Given the description of an element on the screen output the (x, y) to click on. 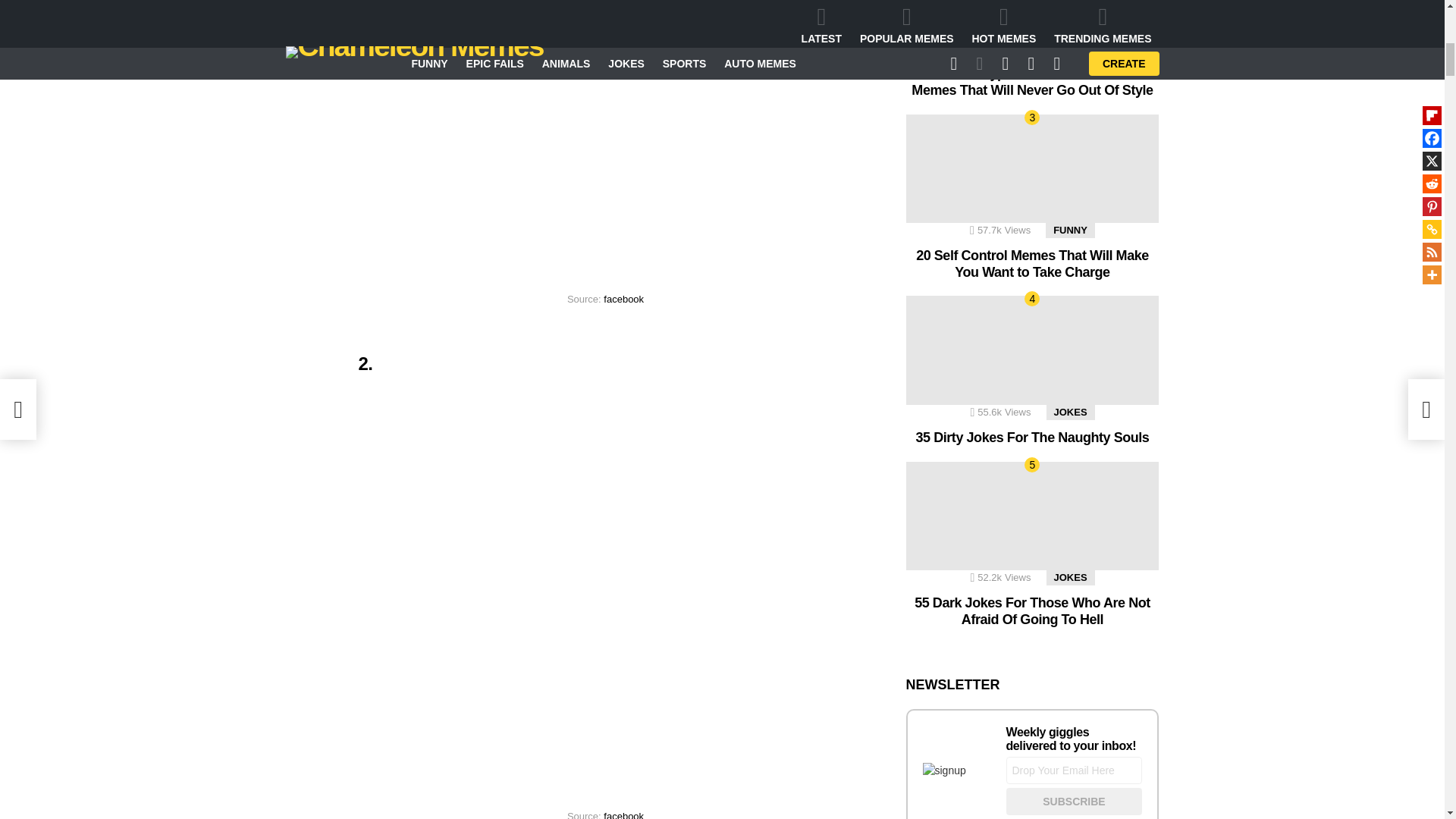
Subscribe (1073, 800)
